Given the description of an element on the screen output the (x, y) to click on. 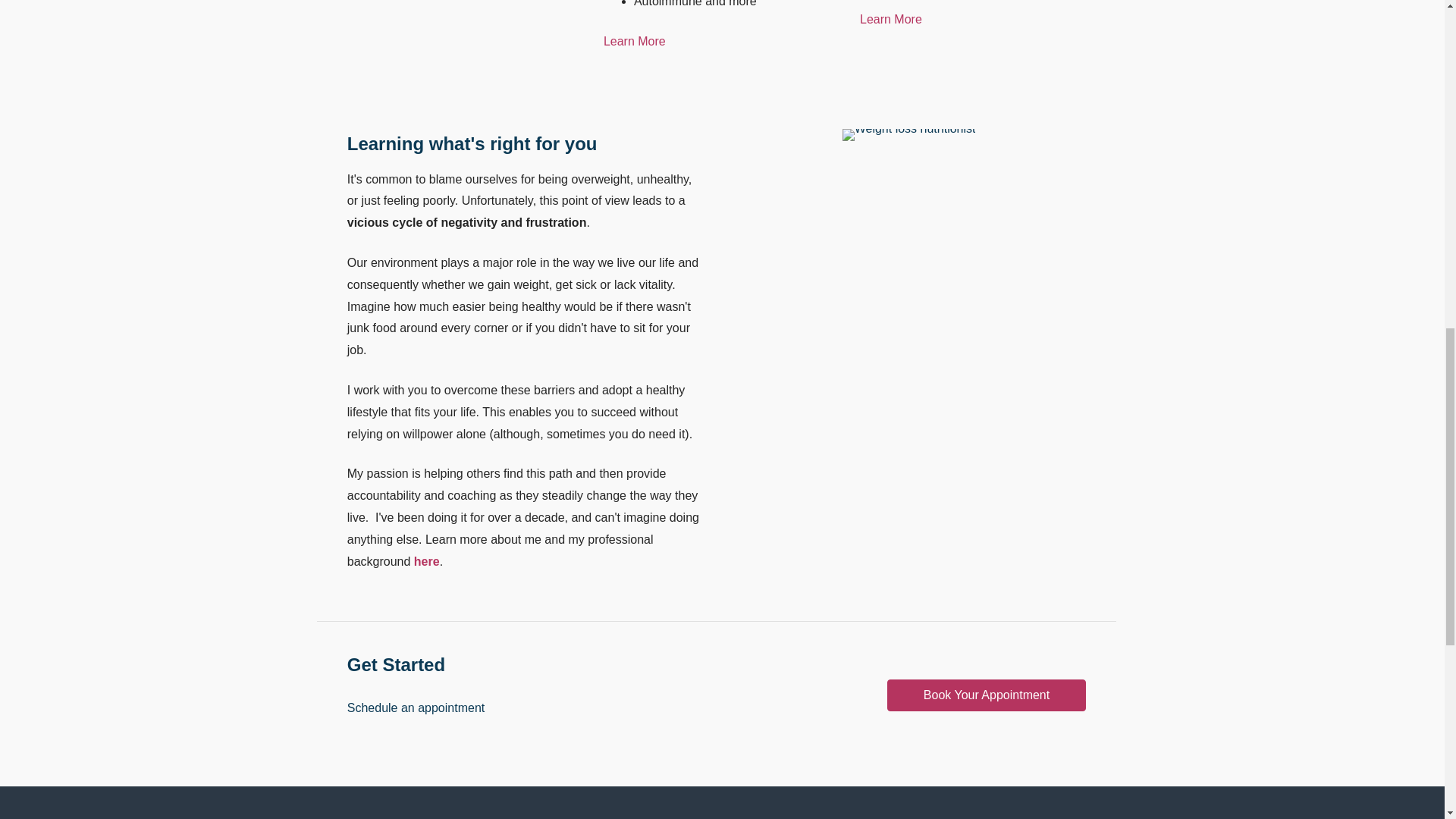
Learn More (973, 20)
Book Your Appointment (986, 695)
Learn More (716, 42)
Personal Nutrition Plan (909, 134)
here (426, 561)
